Given the description of an element on the screen output the (x, y) to click on. 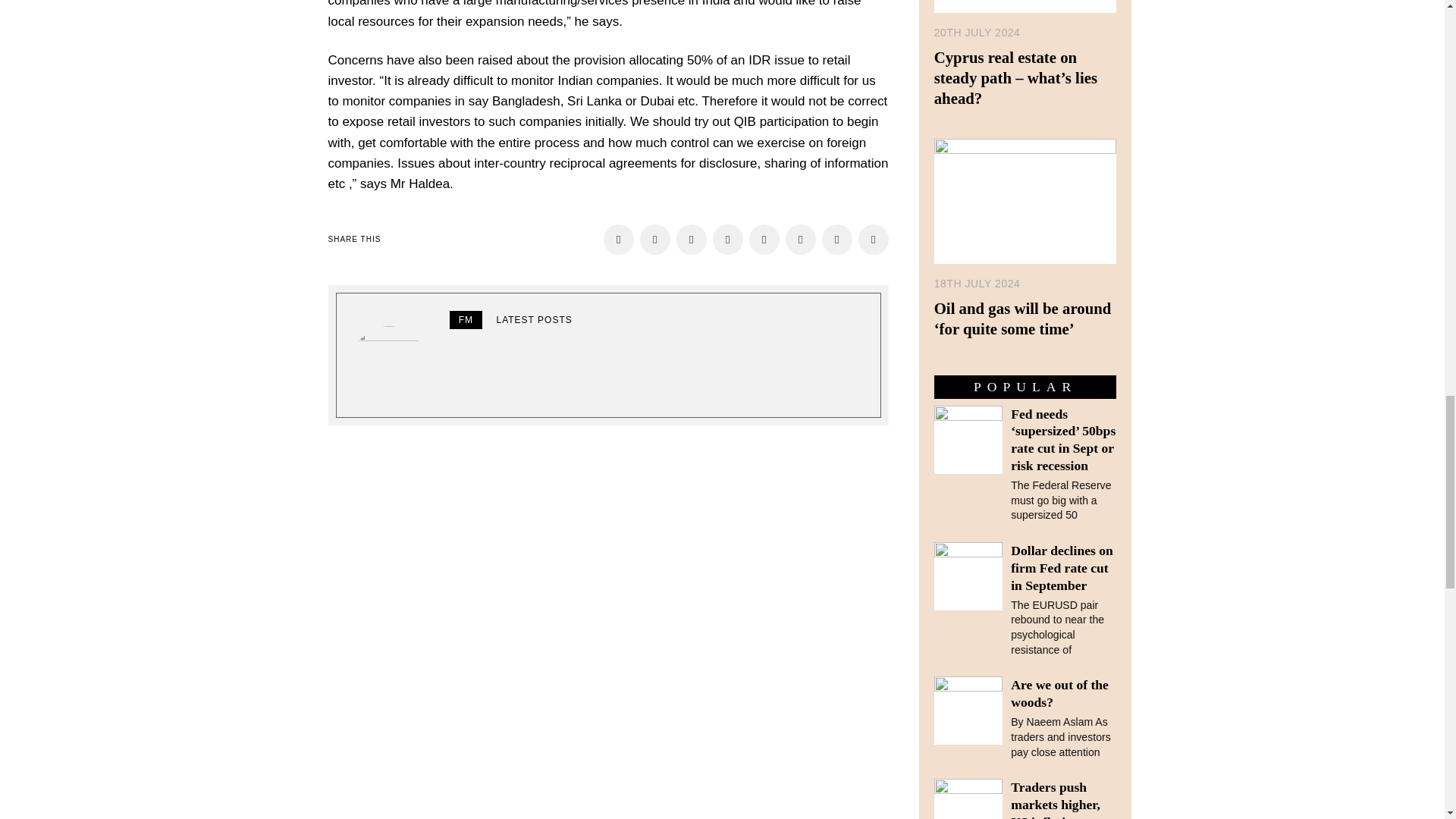
Pinterest (727, 239)
Facebook (618, 239)
Linkedin (763, 239)
Messenger (654, 239)
Email (836, 239)
Whatsapp (800, 239)
Reddit (873, 239)
Twitter (691, 239)
